Given the description of an element on the screen output the (x, y) to click on. 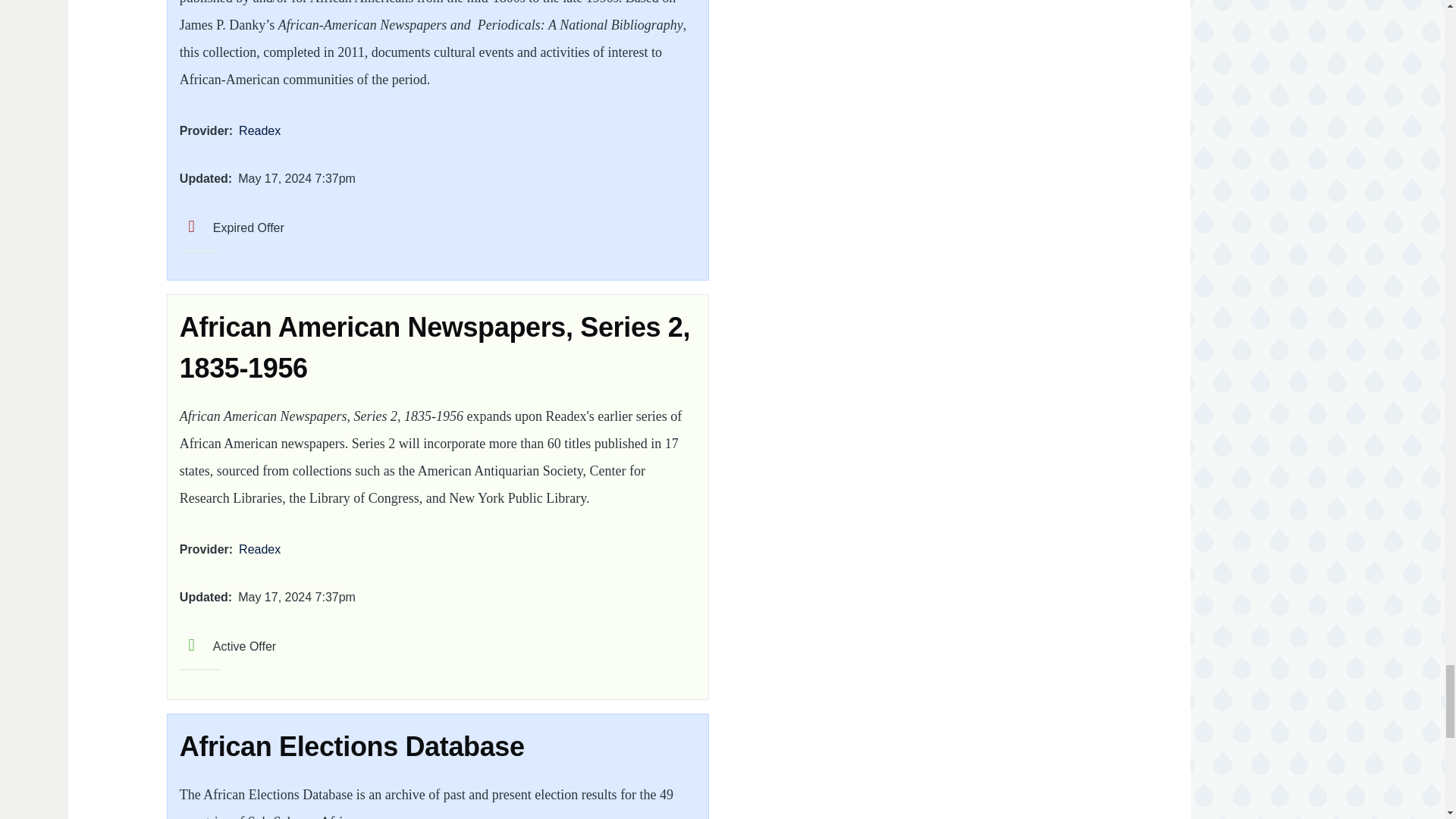
Expired Offer (231, 227)
Active Offer (227, 645)
